Given the description of an element on the screen output the (x, y) to click on. 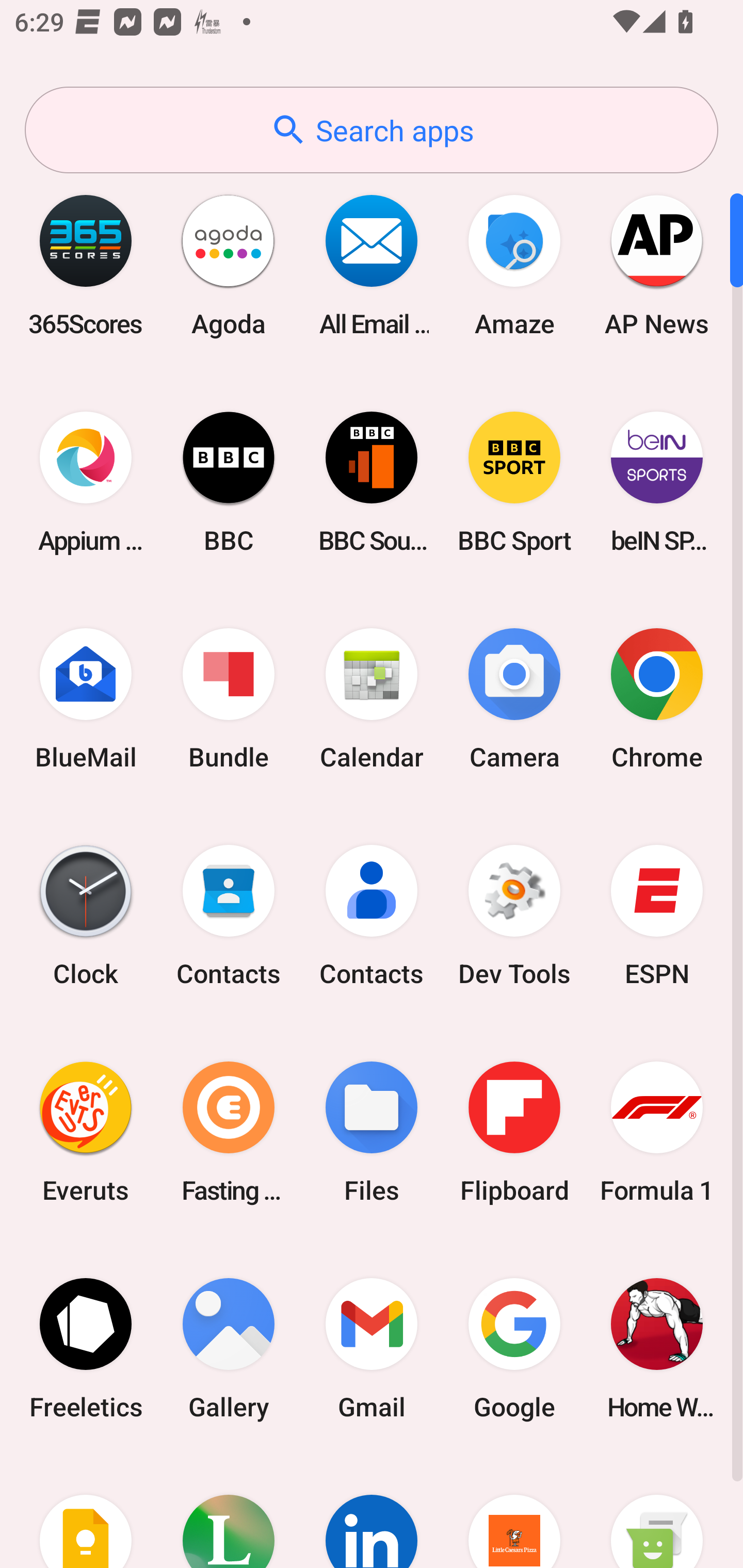
  Search apps (371, 130)
365Scores (85, 264)
Agoda (228, 264)
All Email Connect (371, 264)
Amaze (514, 264)
AP News (656, 264)
Appium Settings (85, 482)
BBC (228, 482)
BBC Sounds (371, 482)
BBC Sport (514, 482)
beIN SPORTS (656, 482)
BlueMail (85, 699)
Bundle (228, 699)
Calendar (371, 699)
Camera (514, 699)
Chrome (656, 699)
Clock (85, 915)
Contacts (228, 915)
Contacts (371, 915)
Dev Tools (514, 915)
ESPN (656, 915)
Everuts (85, 1131)
Fasting Coach (228, 1131)
Files (371, 1131)
Flipboard (514, 1131)
Formula 1 (656, 1131)
Freeletics (85, 1348)
Gallery (228, 1348)
Gmail (371, 1348)
Google (514, 1348)
Home Workout (656, 1348)
